Given the description of an element on the screen output the (x, y) to click on. 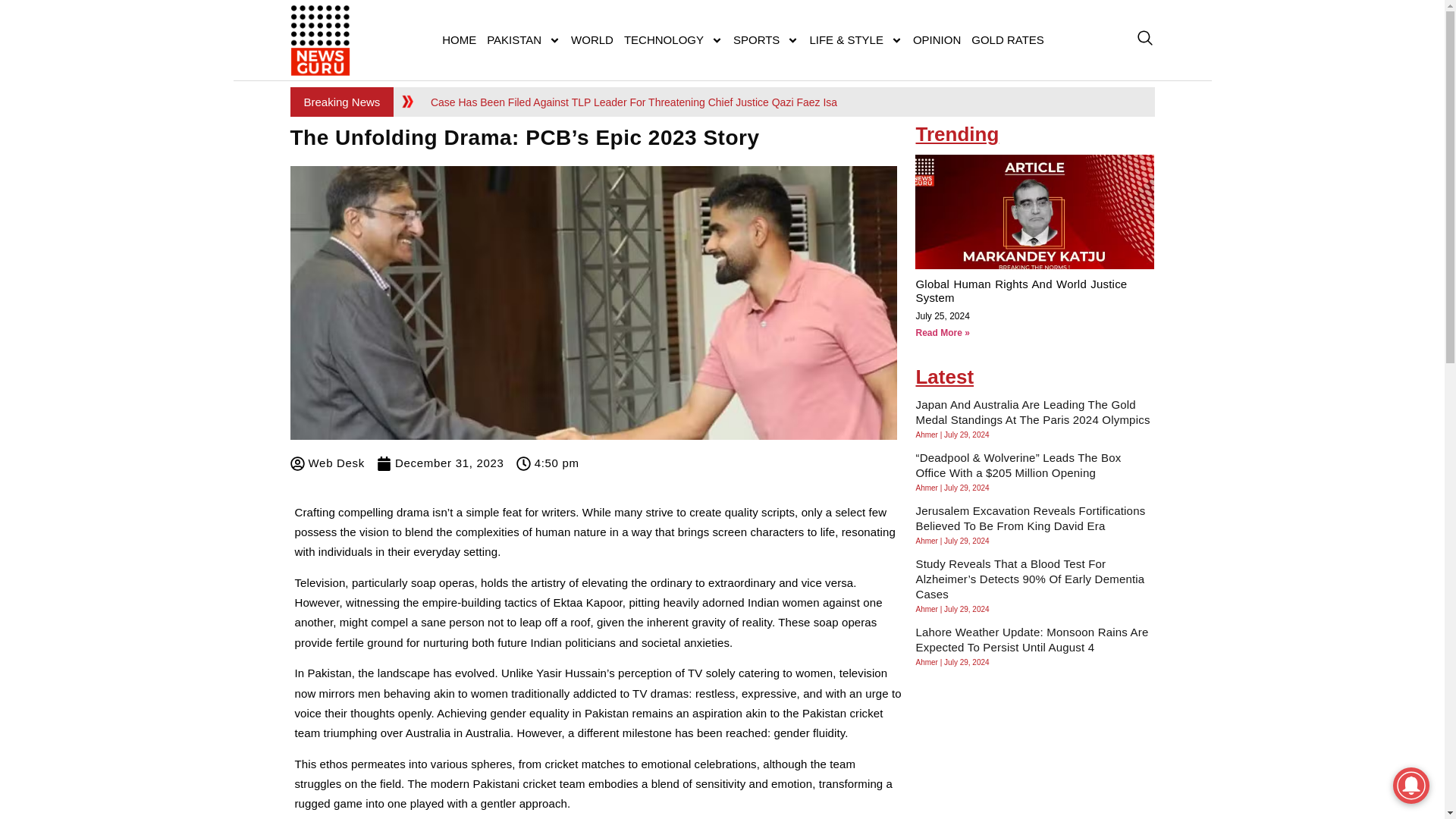
TECHNOLOGY (673, 39)
HOME (458, 39)
PAKISTAN (523, 39)
OPINION (936, 39)
GOLD RATES (1007, 39)
SPORTS (765, 39)
WORLD (592, 39)
